Given the description of an element on the screen output the (x, y) to click on. 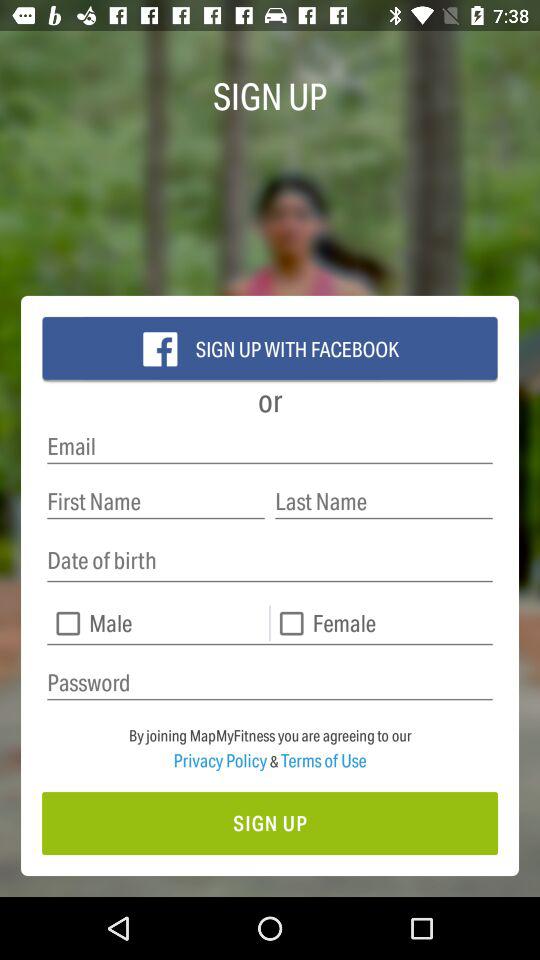
date of birth text box (270, 560)
